Given the description of an element on the screen output the (x, y) to click on. 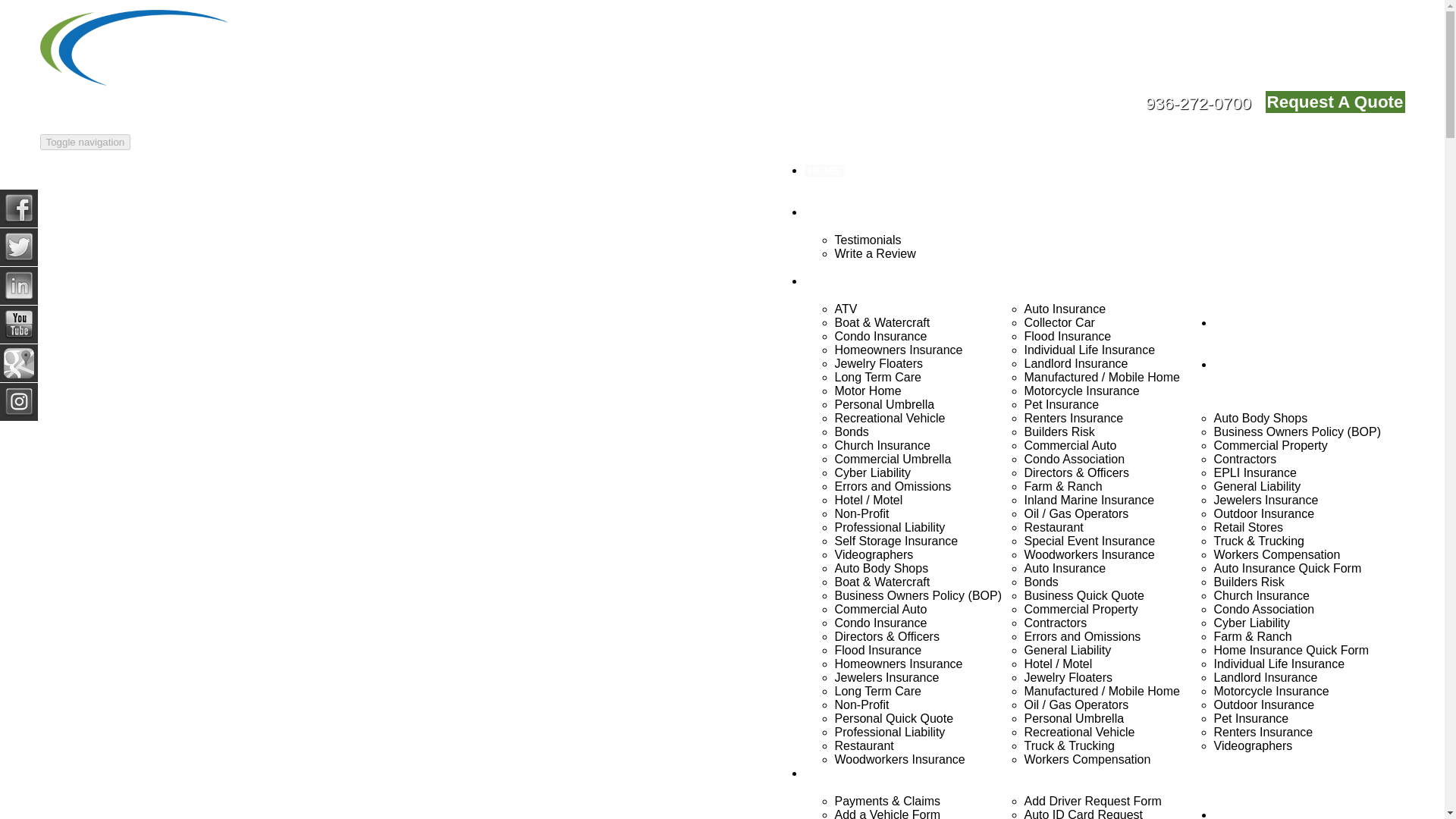
Bonds (850, 431)
Renters Insurance (1072, 418)
Jewelry Floaters (877, 363)
Commercial Auto (1069, 445)
Request A Quote (1335, 101)
Recreational Vehicle (889, 418)
Personal Umbrella (884, 404)
Condo Insurance (880, 336)
ABOUT (827, 212)
Auto Body Shops (1259, 418)
